Given the description of an element on the screen output the (x, y) to click on. 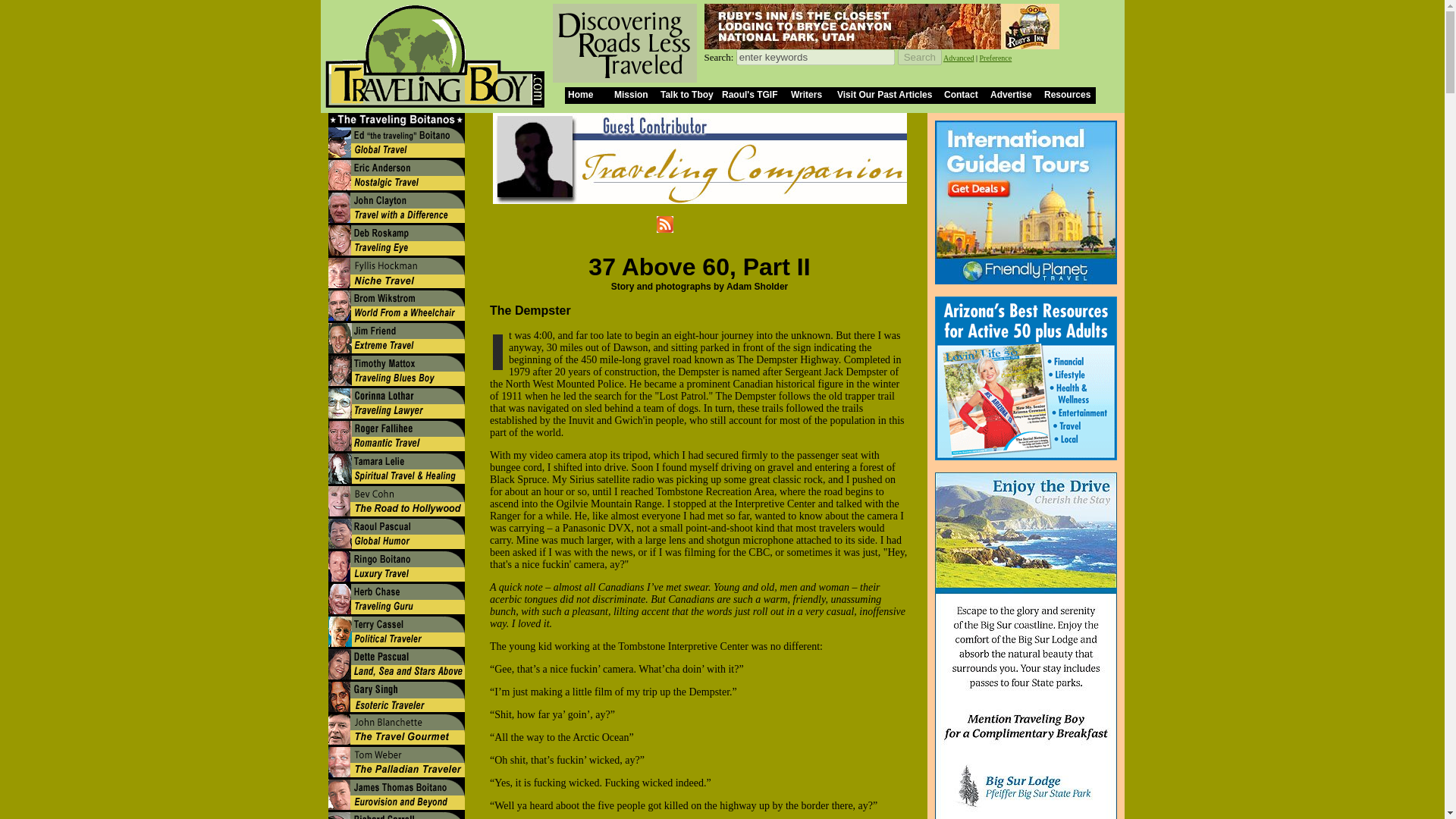
Search (920, 57)
enter keywords (815, 57)
Search (920, 57)
Advanced (958, 58)
Preference (994, 58)
